Given the description of an element on the screen output the (x, y) to click on. 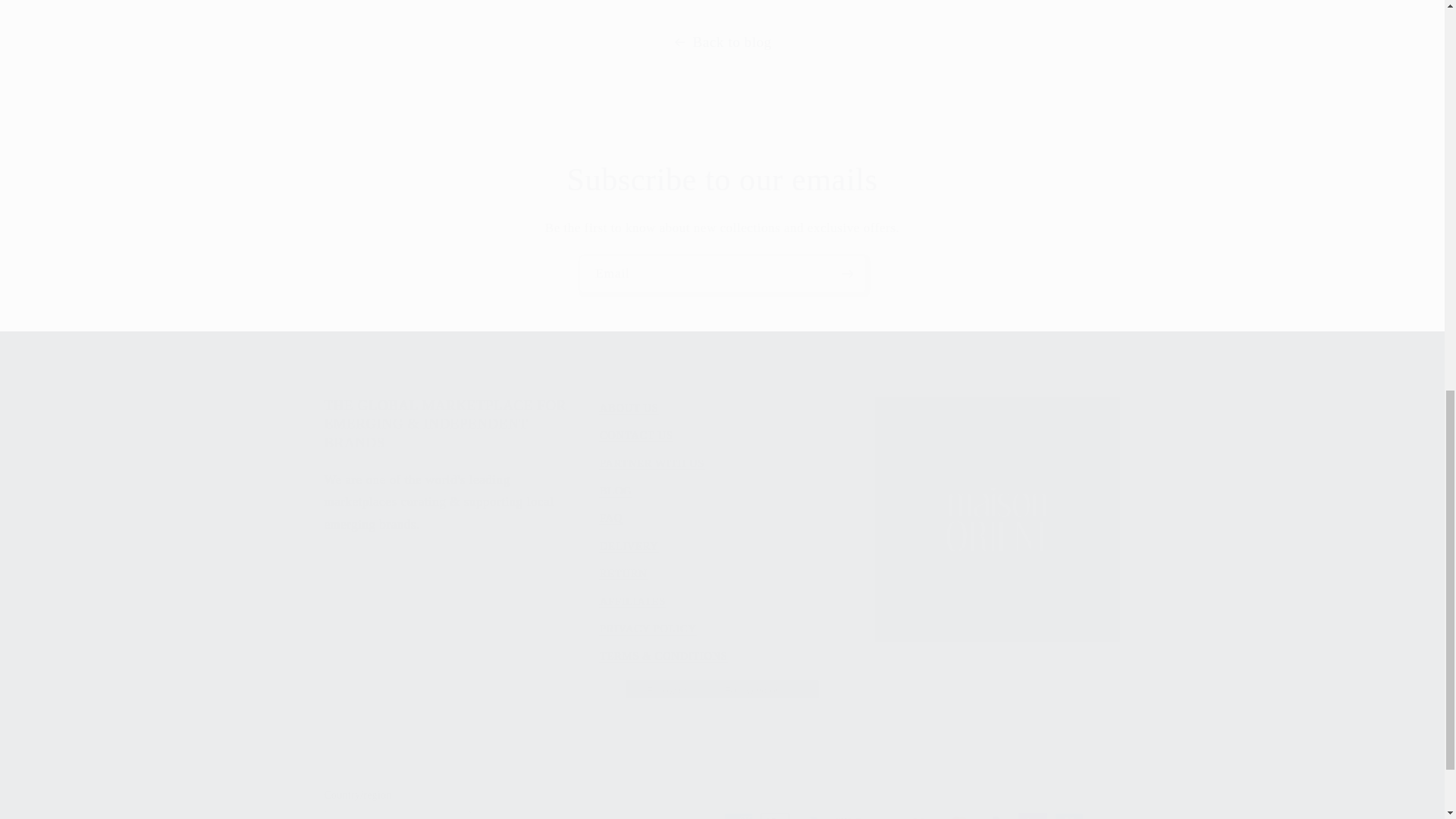
Email (722, 273)
Subscribe to our emails (722, 179)
